Given the description of an element on the screen output the (x, y) to click on. 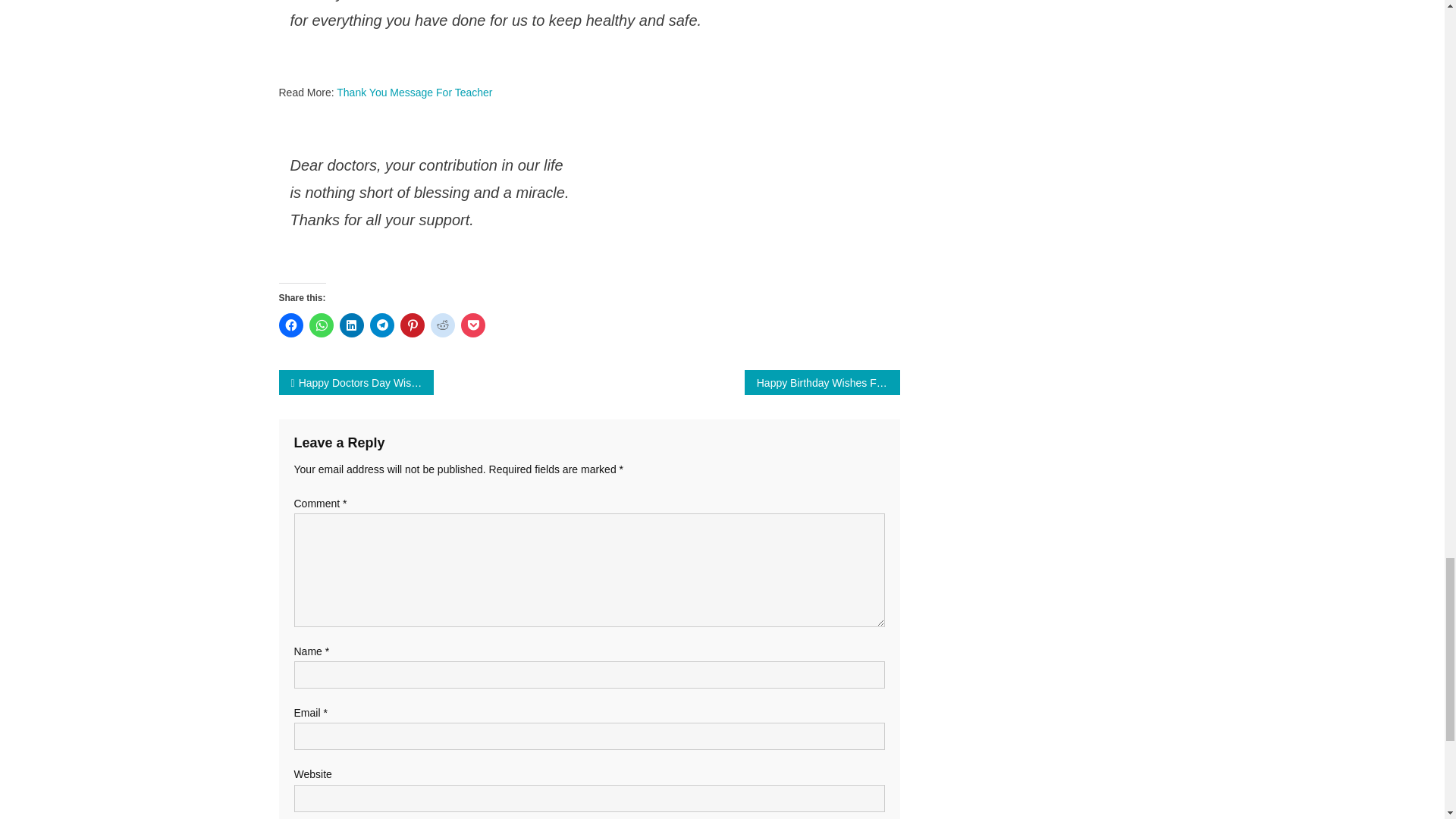
Click to share on Telegram (381, 324)
Click to share on Pocket (472, 324)
Click to share on WhatsApp (320, 324)
Click to share on Pinterest (412, 324)
Happy Birthday Wishes For Brother (821, 382)
Click to share on Reddit (442, 324)
Thank You Message For Teacher (414, 92)
Happy Doctors Day Wishes Sms, Doctors Day Card Messages (356, 382)
Click to share on LinkedIn (351, 324)
Click to share on Facebook (290, 324)
